Given the description of an element on the screen output the (x, y) to click on. 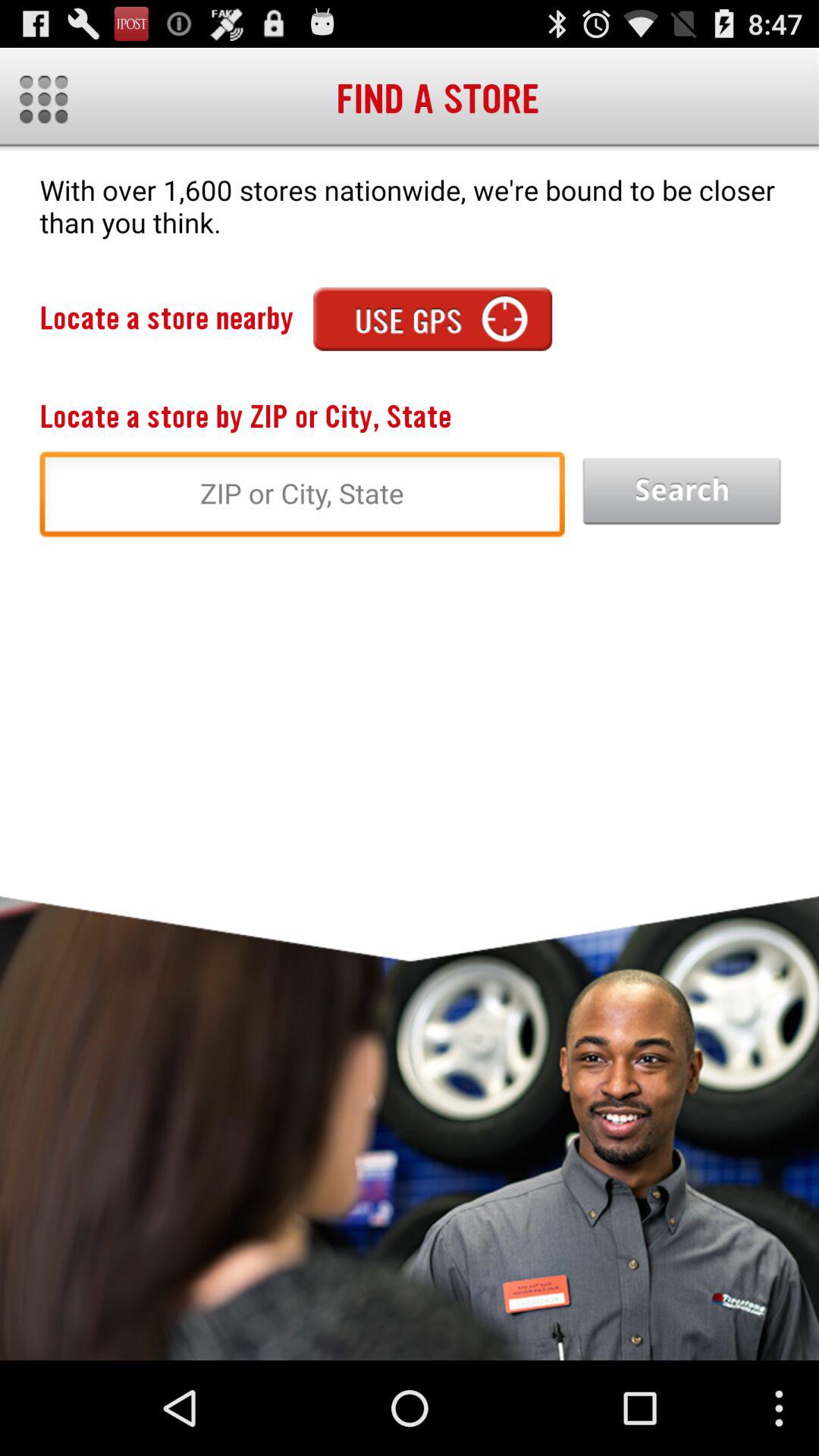
press the app to the left of the find a store item (43, 99)
